Given the description of an element on the screen output the (x, y) to click on. 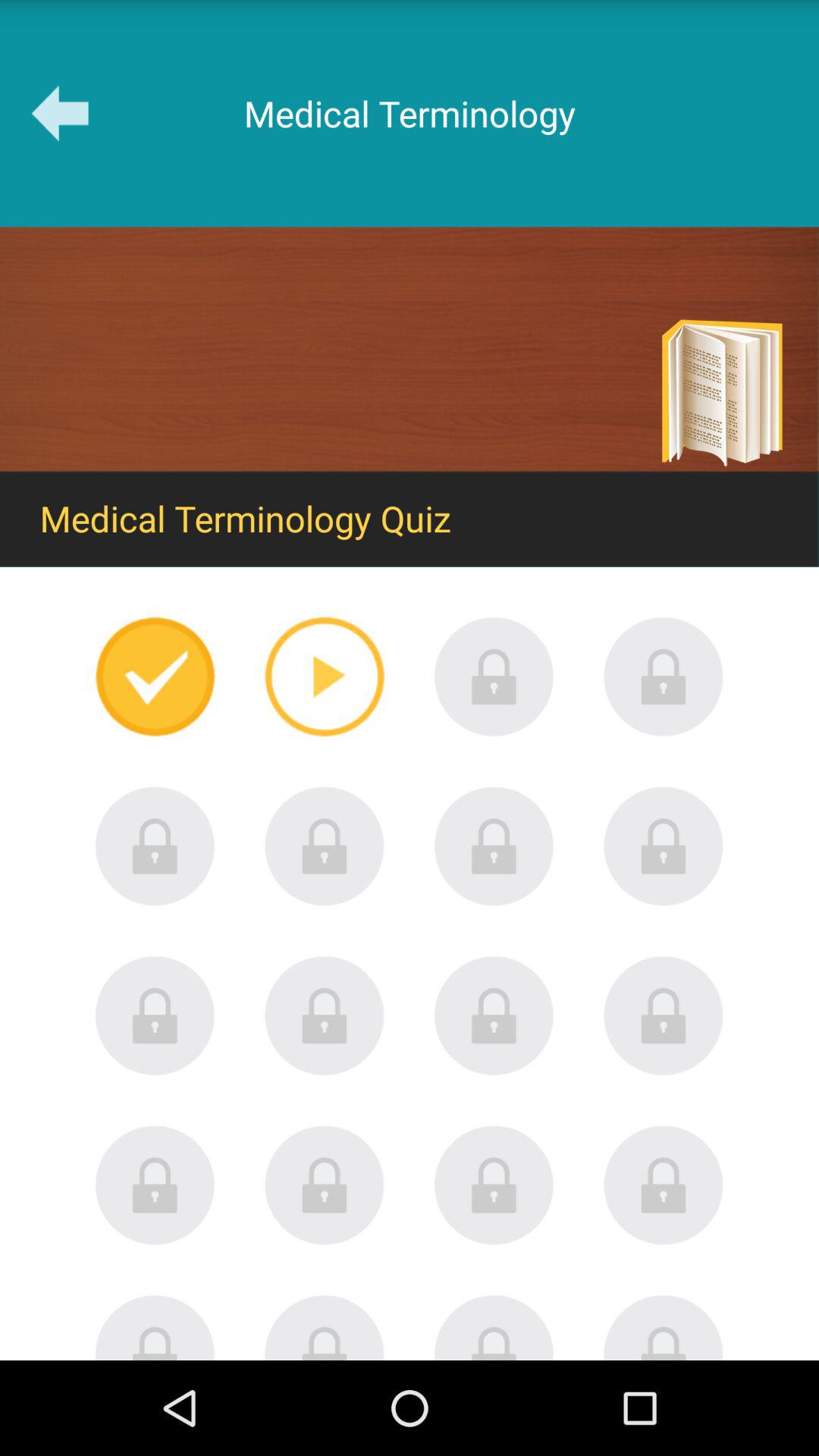
go next (324, 676)
